Given the description of an element on the screen output the (x, y) to click on. 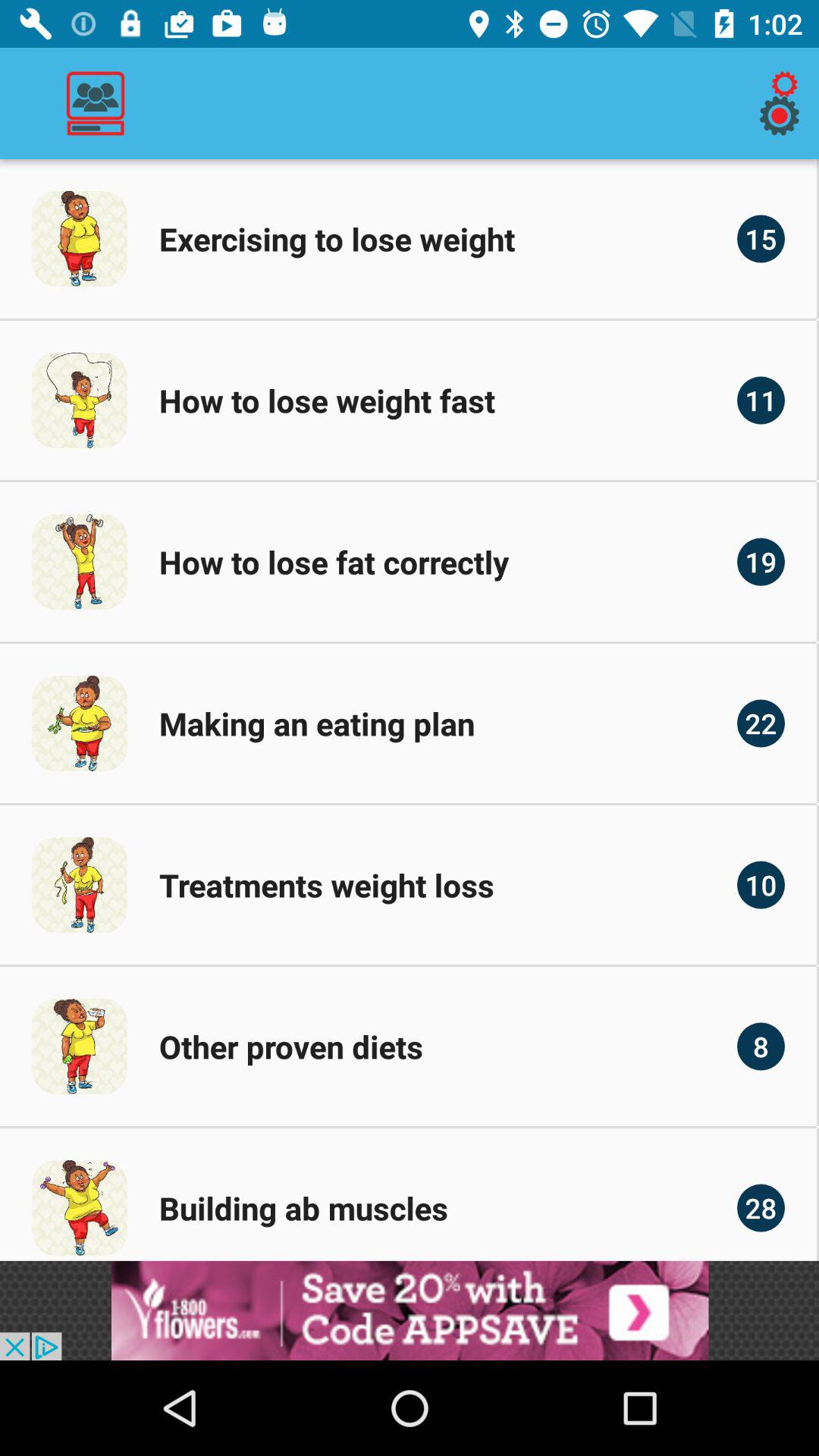
click on the icon on the top right corner (783, 103)
select the icon which is before other proven diets on page (79, 1046)
select the image to the left of making an eating plan text (79, 723)
